Given the description of an element on the screen output the (x, y) to click on. 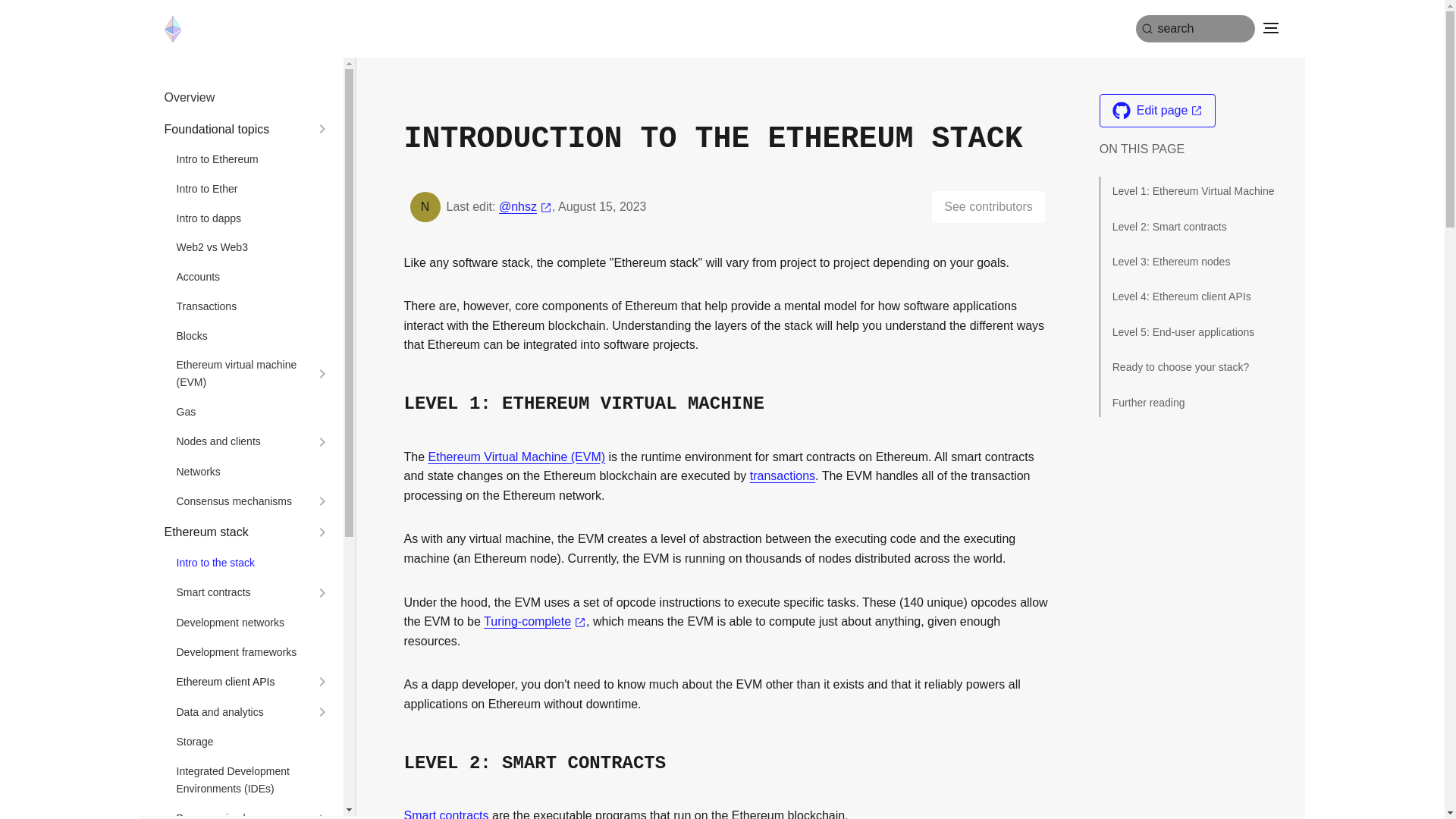
search (1194, 28)
Intro to Ether (253, 189)
Intro to dapps (253, 218)
Blocks (253, 335)
Networks (253, 471)
Consensus mechanisms (240, 501)
Nodes and clients (240, 441)
Web2 vs Web3 (253, 247)
Overview (246, 97)
Accounts (253, 276)
